Given the description of an element on the screen output the (x, y) to click on. 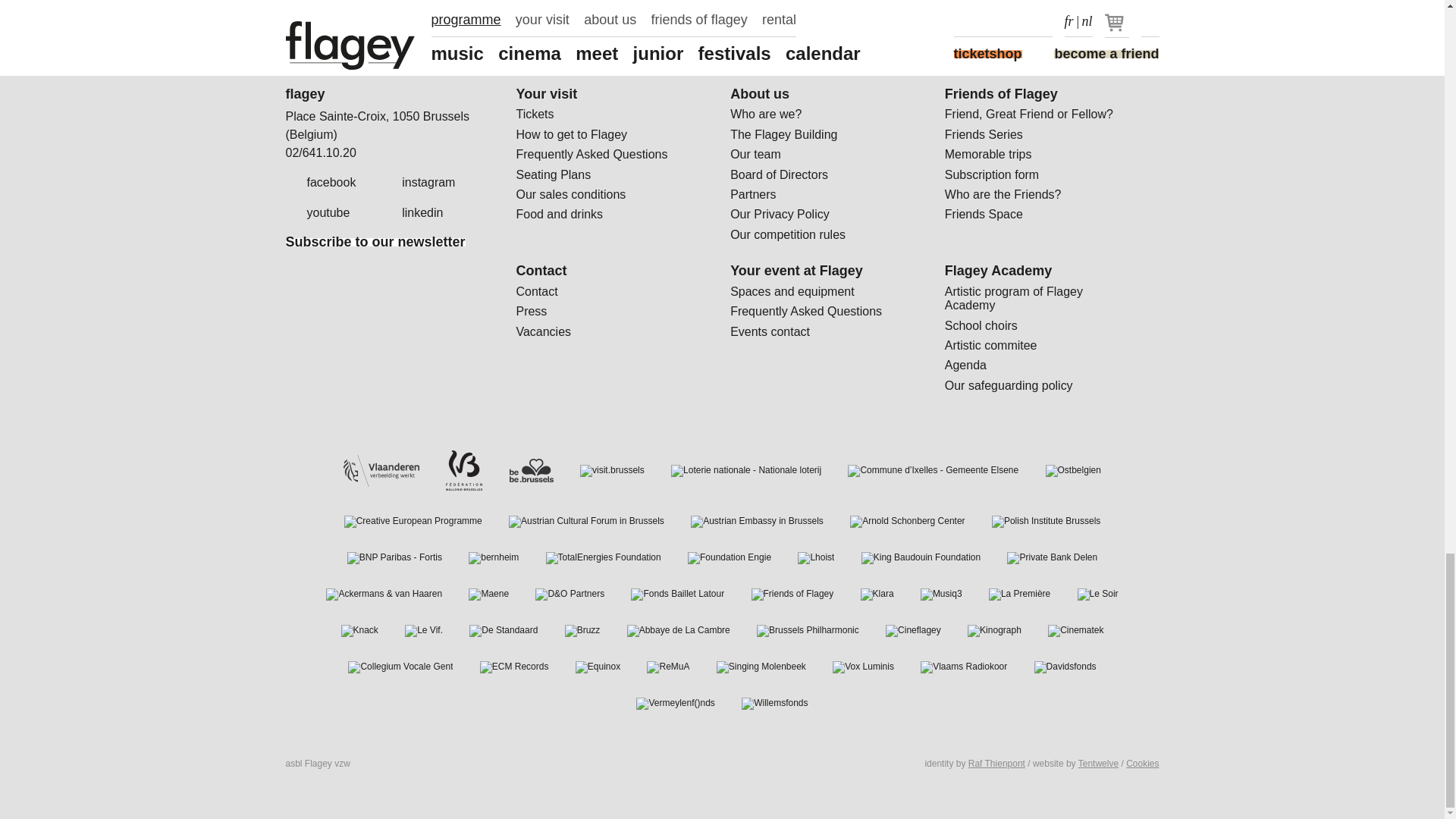
Vlaanderen verbeelding werkt (381, 471)
Ostbelgien (1072, 470)
Brussels-Capital Region (531, 470)
Creative European Programme (412, 521)
Arnold Schonberg Center (906, 521)
Loterie nationale - Nationale loterij (746, 470)
BNP Paribas - Fortis (394, 558)
bernheim (493, 558)
Austrian Embassy in Brussels (757, 521)
visit.brussels (612, 470)
Polish Institute Brussels (1045, 521)
Austrian Cultural Forum in Brussels (585, 521)
